Given the description of an element on the screen output the (x, y) to click on. 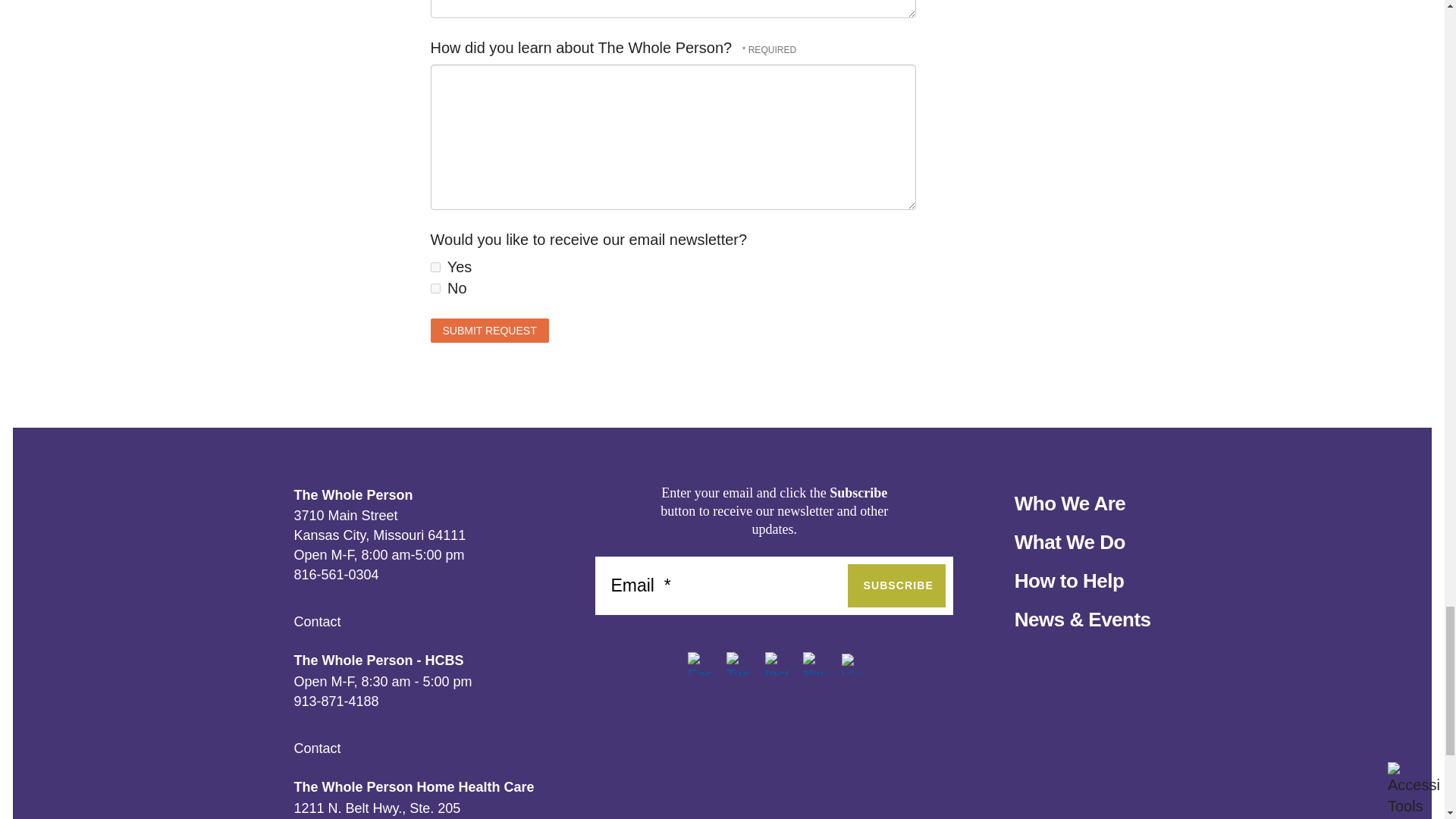
Subscribe (896, 585)
Yes (435, 266)
No (435, 288)
SUBMIT REQUEST (489, 330)
